Given the description of an element on the screen output the (x, y) to click on. 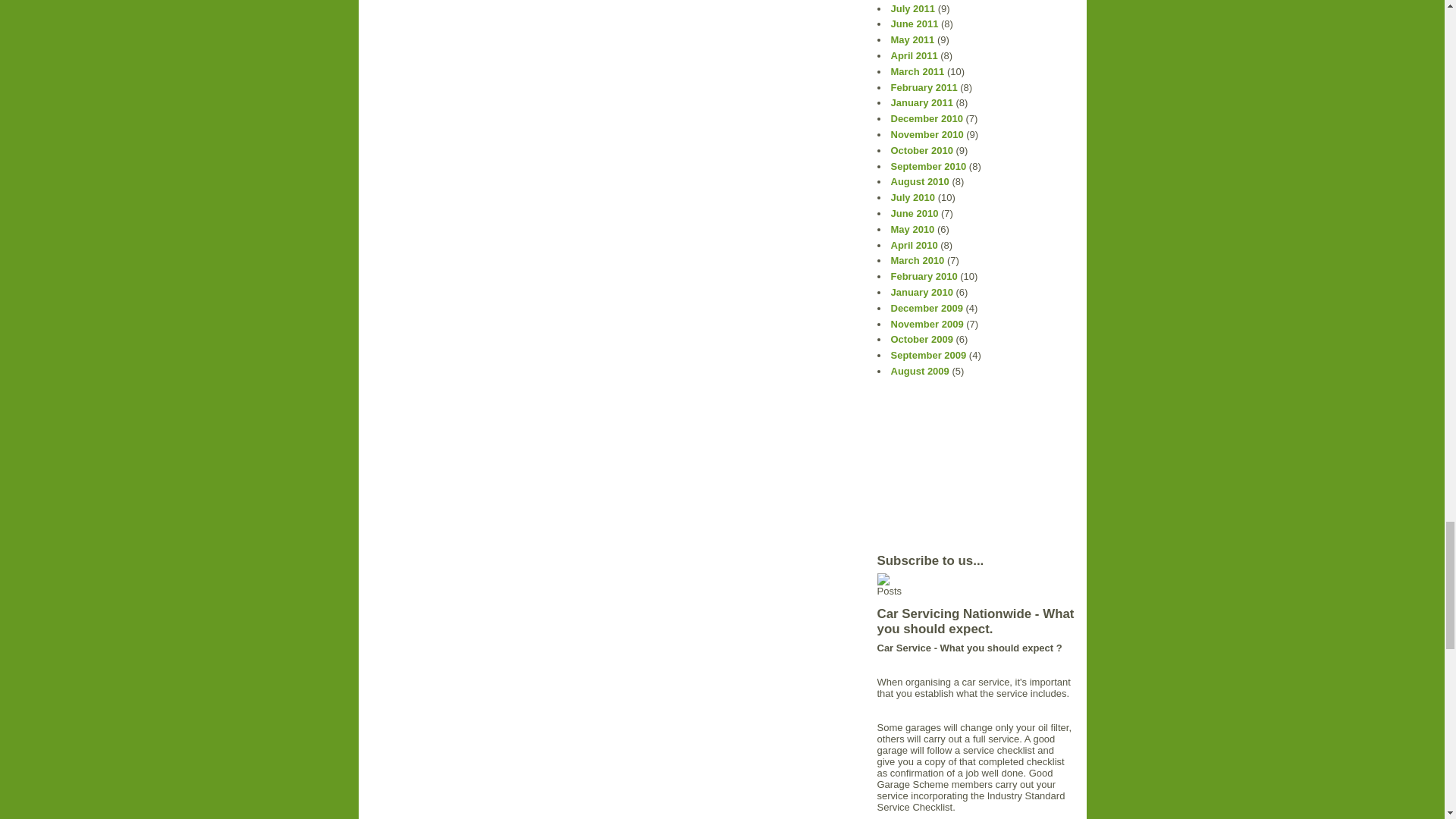
YouTube video player (959, 465)
